Given the description of an element on the screen output the (x, y) to click on. 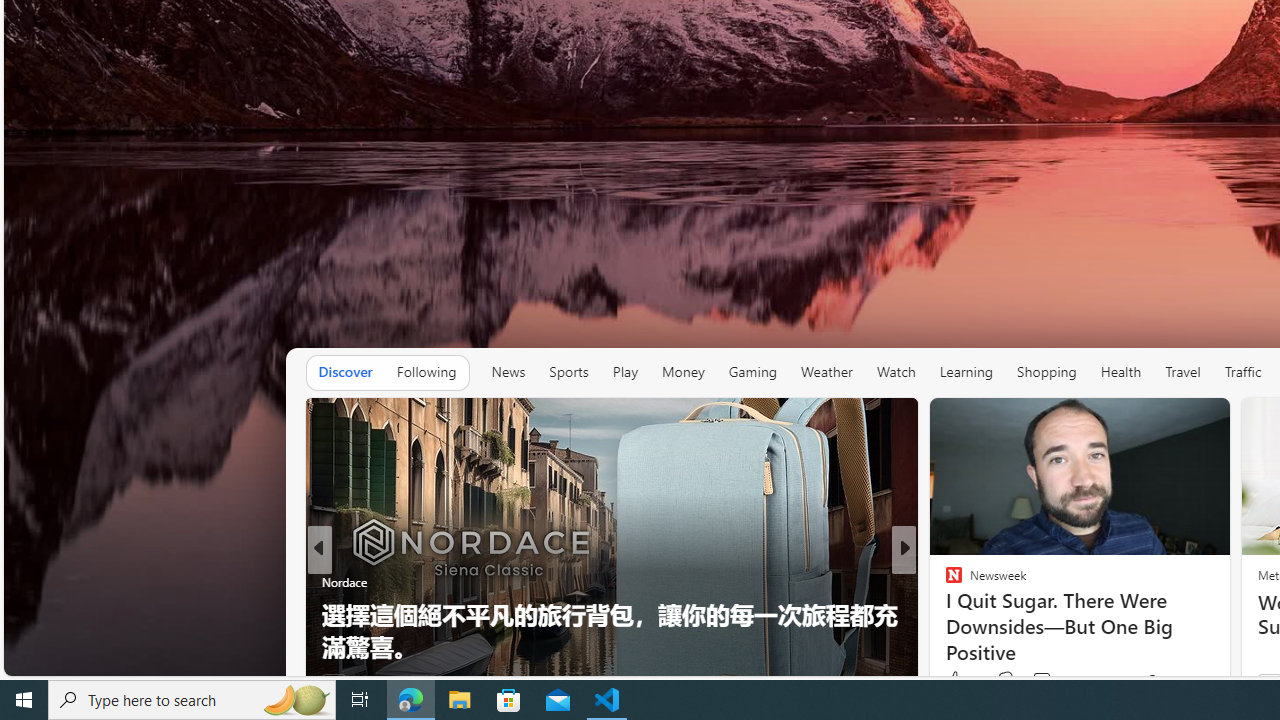
195 Like (959, 681)
Nature of Home (944, 614)
CNBC (944, 581)
View comments 307 Comment (1035, 681)
Epic Reactions (944, 614)
SlashGear (944, 614)
Learning (966, 372)
Sports (569, 372)
Health (1121, 371)
View comments 134 Comment (1048, 681)
